Given the description of an element on the screen output the (x, y) to click on. 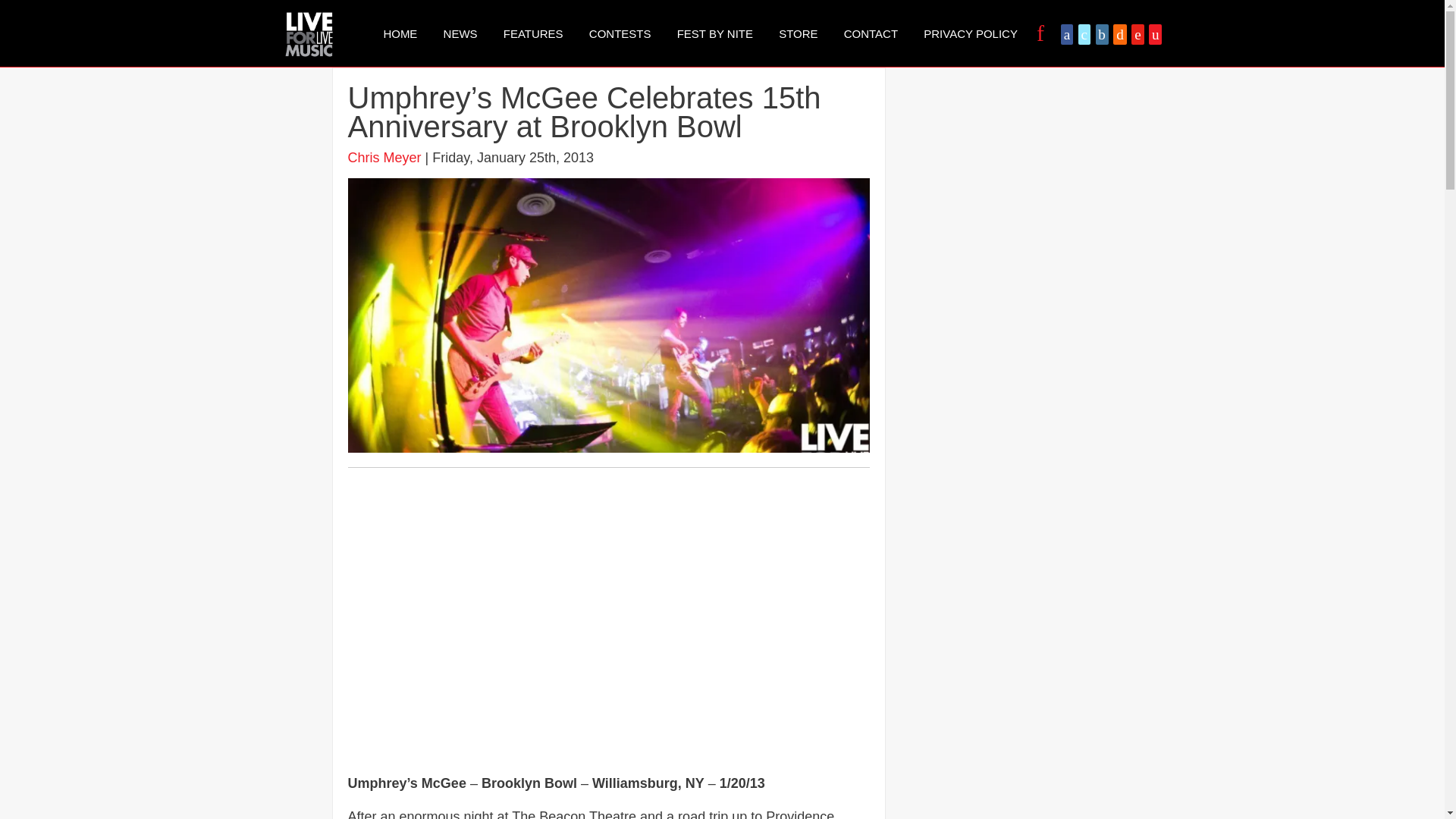
CONTACT (870, 33)
FEST BY NITE (714, 33)
HOME (399, 33)
L4LM (308, 32)
NEWS (460, 33)
FEATURES (533, 33)
PRIVACY POLICY (970, 33)
CONTESTS (620, 33)
STORE (797, 33)
Chris Meyer (383, 157)
